Given the description of an element on the screen output the (x, y) to click on. 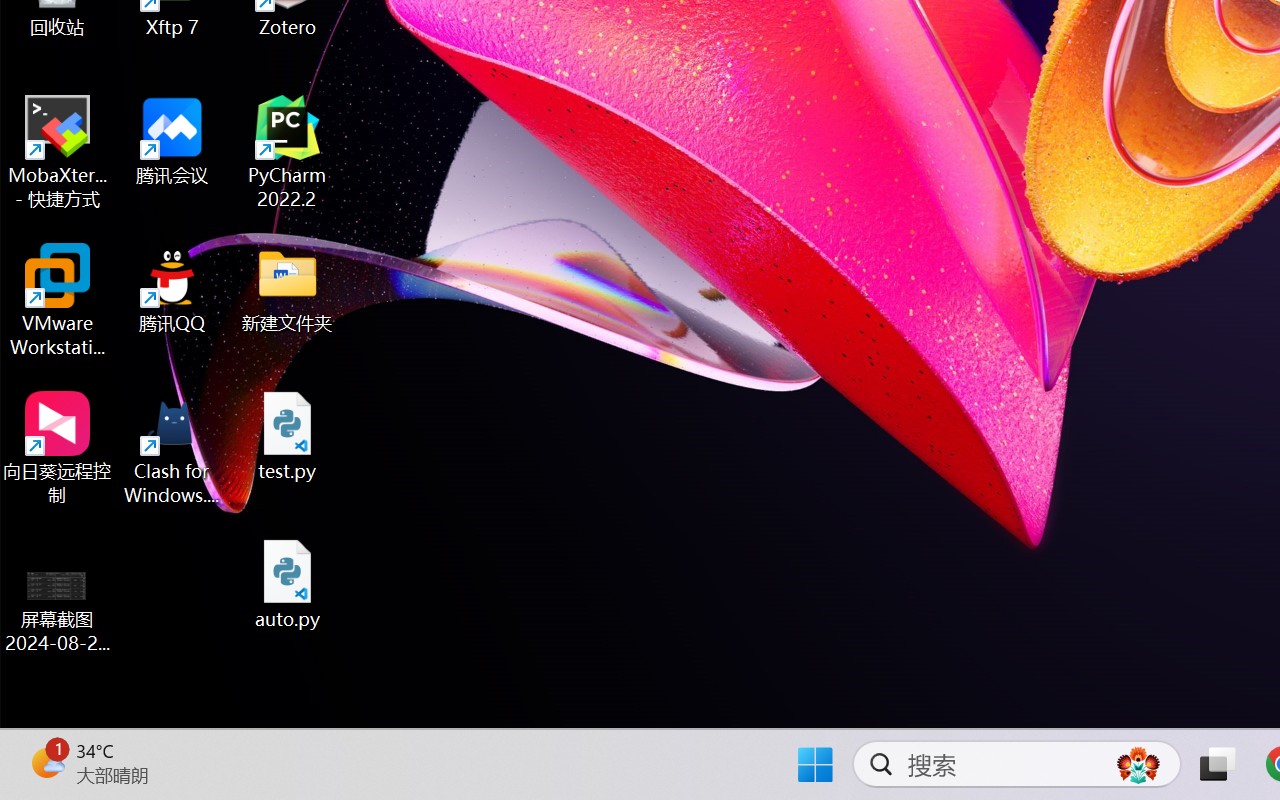
auto.py (287, 584)
test.py (287, 436)
VMware Workstation Pro (57, 300)
